Given the description of an element on the screen output the (x, y) to click on. 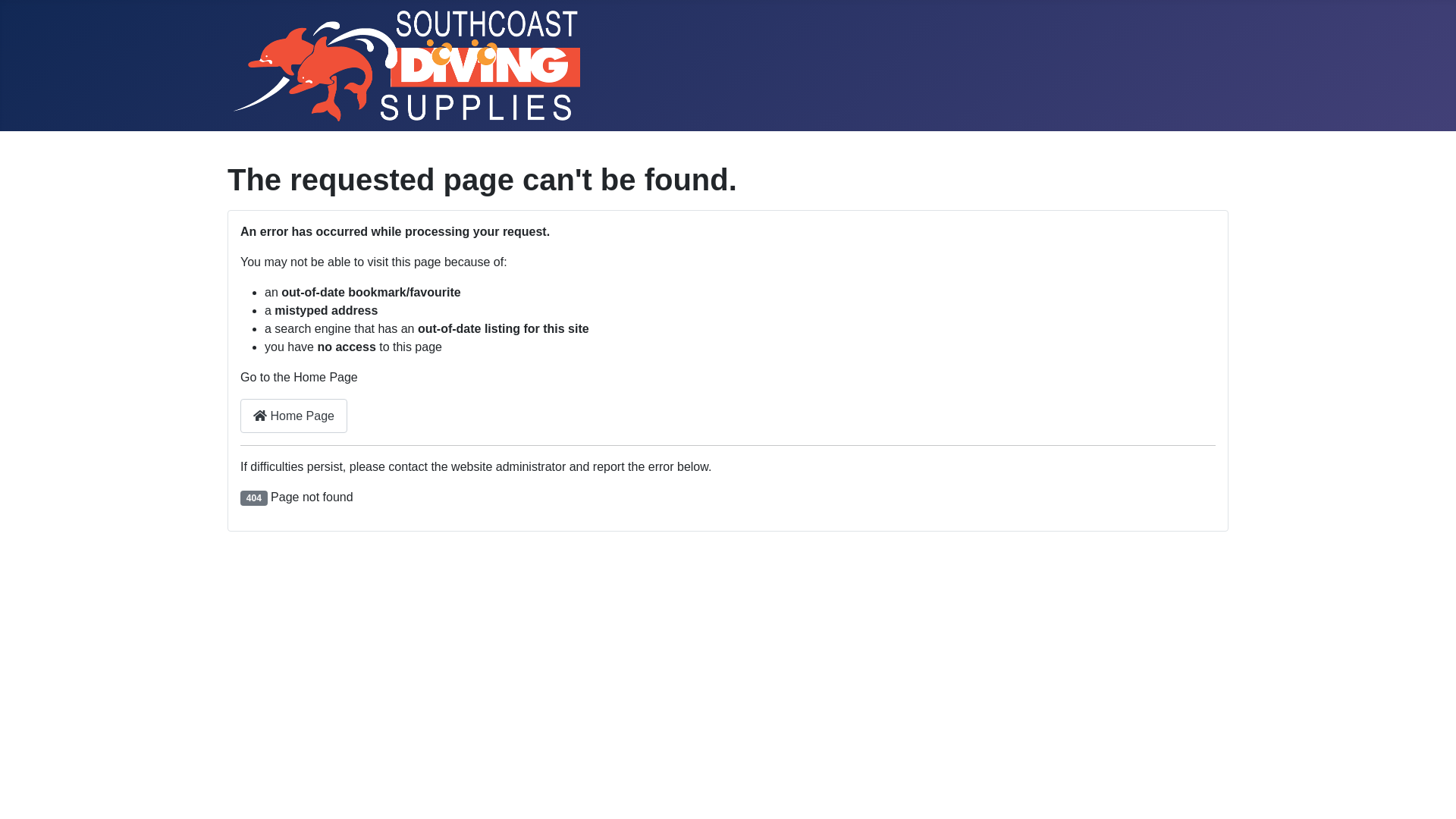
Home Page Element type: text (293, 415)
